Given the description of an element on the screen output the (x, y) to click on. 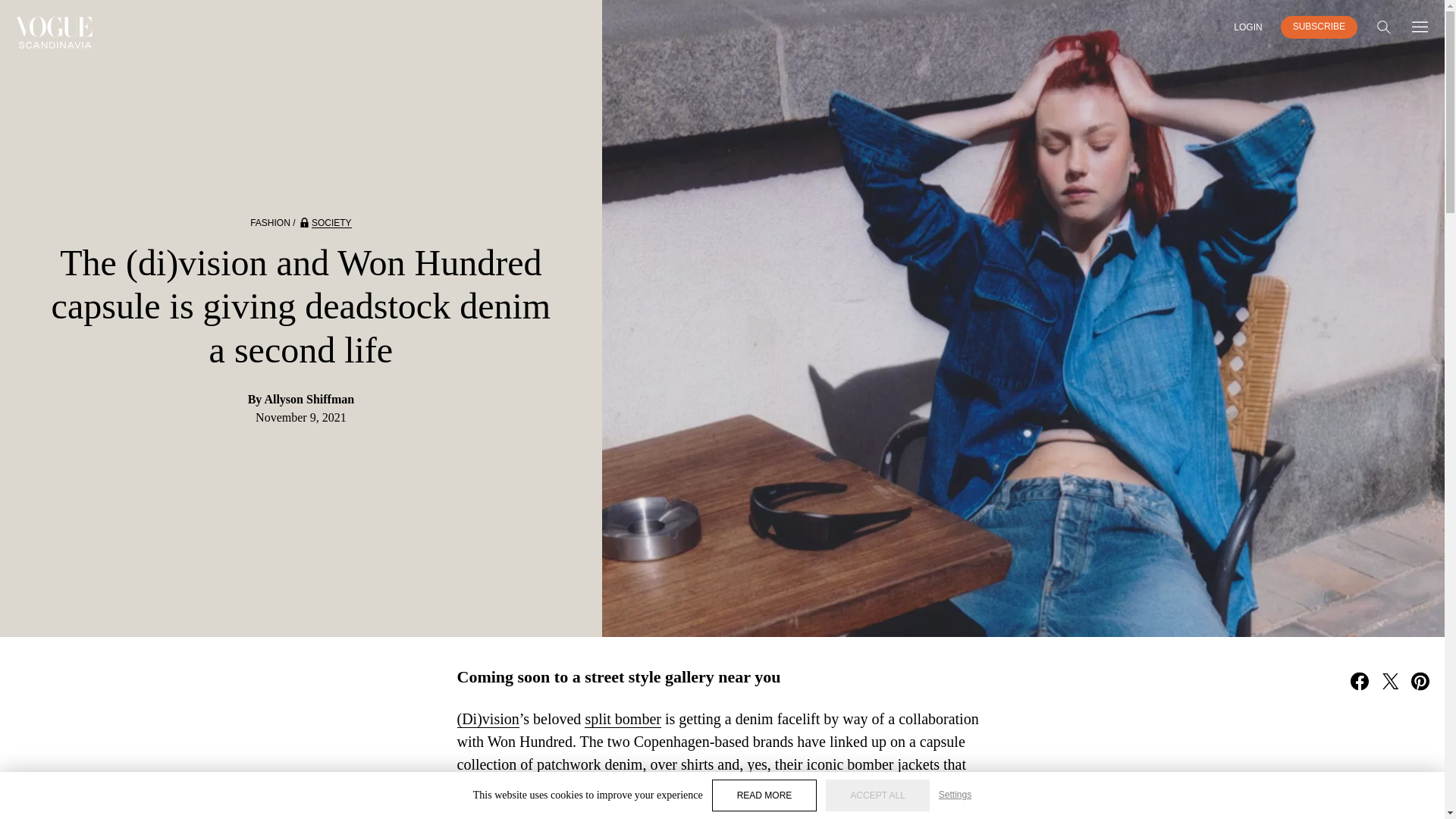
split bomber (623, 719)
Settings (955, 795)
SUBSCRIBE (1318, 26)
READ MORE (763, 795)
ACCEPT ALL (876, 795)
By Allyson Shiffman (301, 398)
LOGIN (1247, 26)
